Given the description of an element on the screen output the (x, y) to click on. 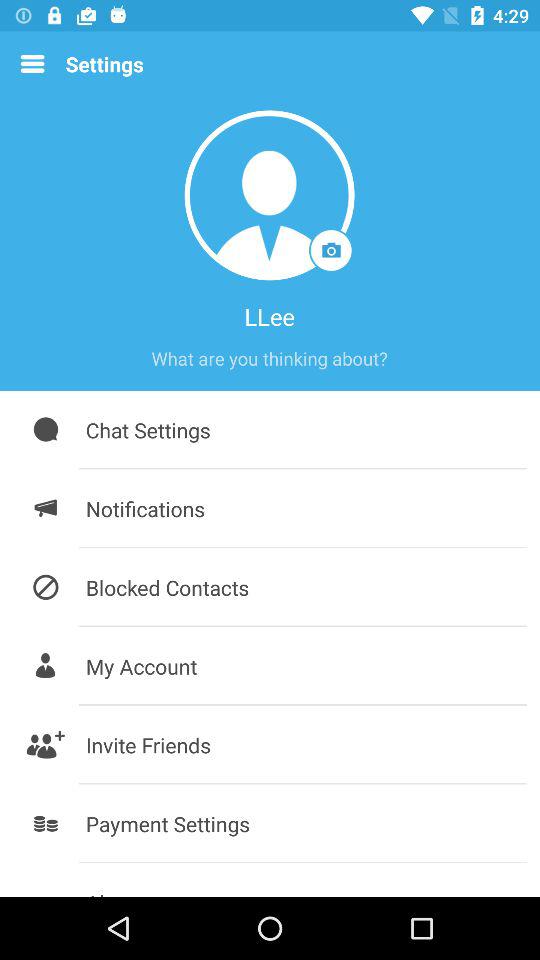
begin text message (269, 358)
